Given the description of an element on the screen output the (x, y) to click on. 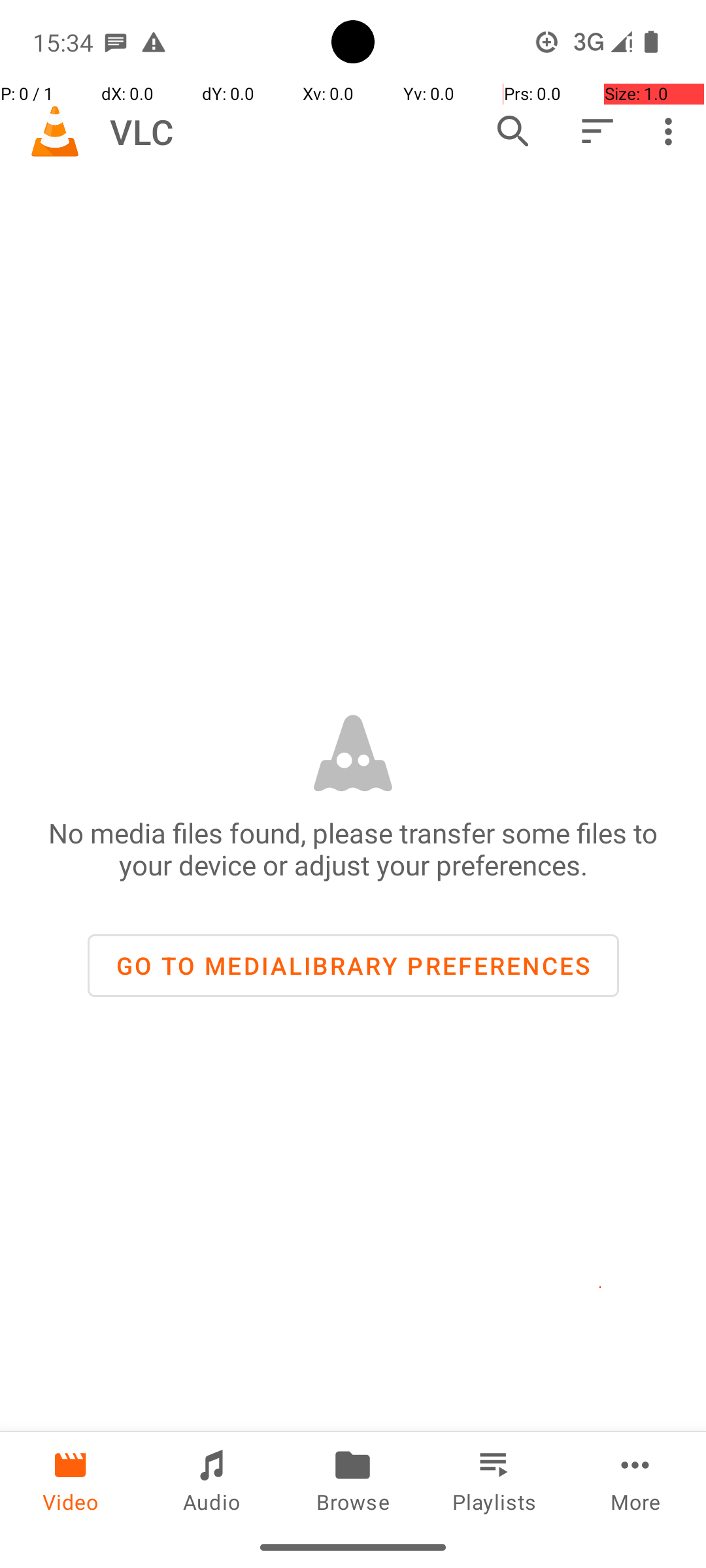
Sort by… Element type: android.widget.TextView (595, 131)
No media files found, please transfer some files to your device or adjust your preferences. Element type: android.widget.TextView (352, 848)
GO TO MEDIALIBRARY PREFERENCES Element type: android.widget.Button (353, 965)
Video Element type: android.widget.FrameLayout (70, 1478)
Browse Element type: android.widget.FrameLayout (352, 1478)
Playlists Element type: android.widget.FrameLayout (493, 1478)
